Given the description of an element on the screen output the (x, y) to click on. 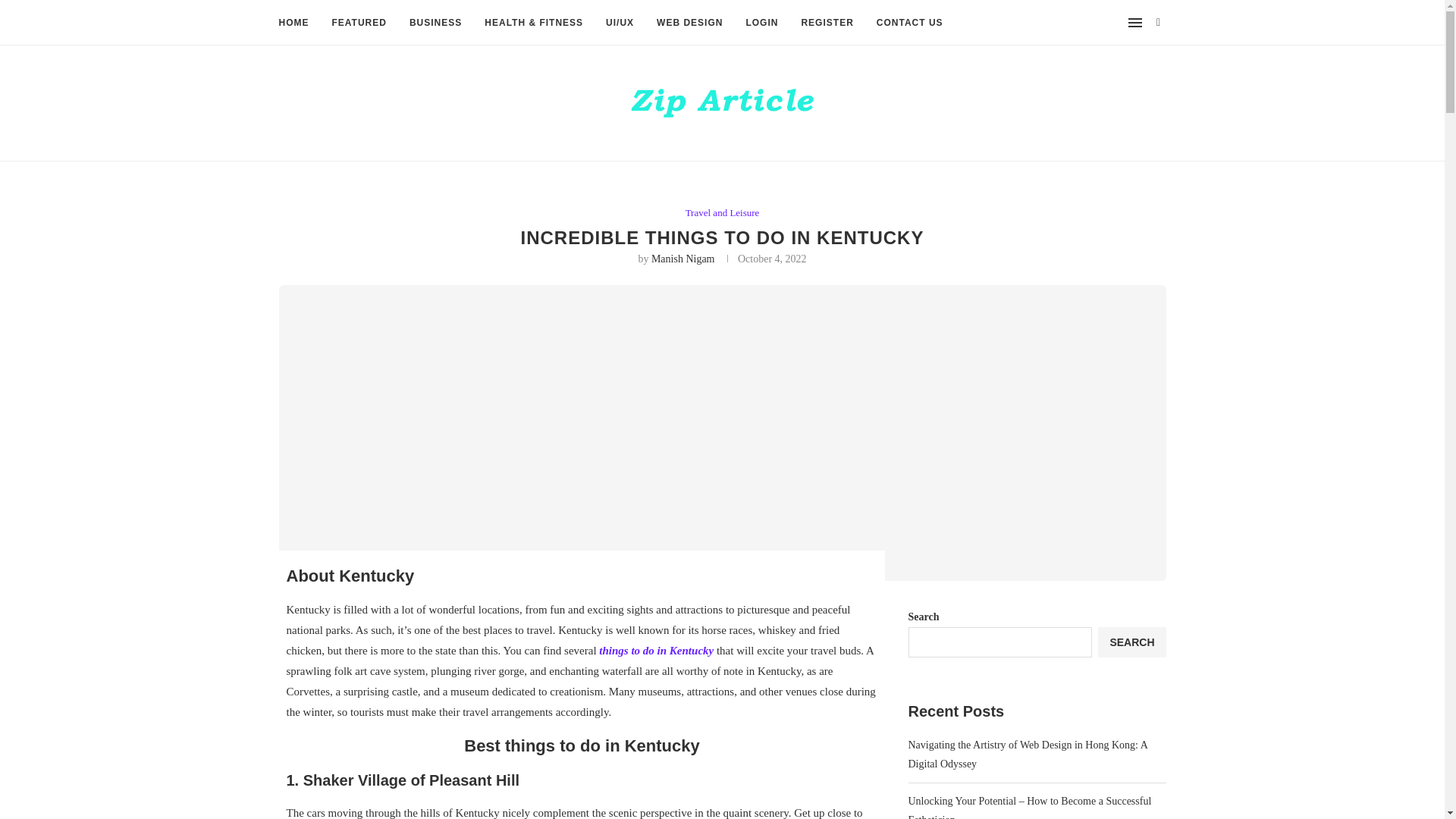
WEB DESIGN (689, 22)
FEATURED (359, 22)
BUSINESS (435, 22)
CONTACT US (909, 22)
Manish Nigam (682, 258)
Travel and Leisure (722, 213)
REGISTER (826, 22)
things to do in Kentucky (655, 650)
